Given the description of an element on the screen output the (x, y) to click on. 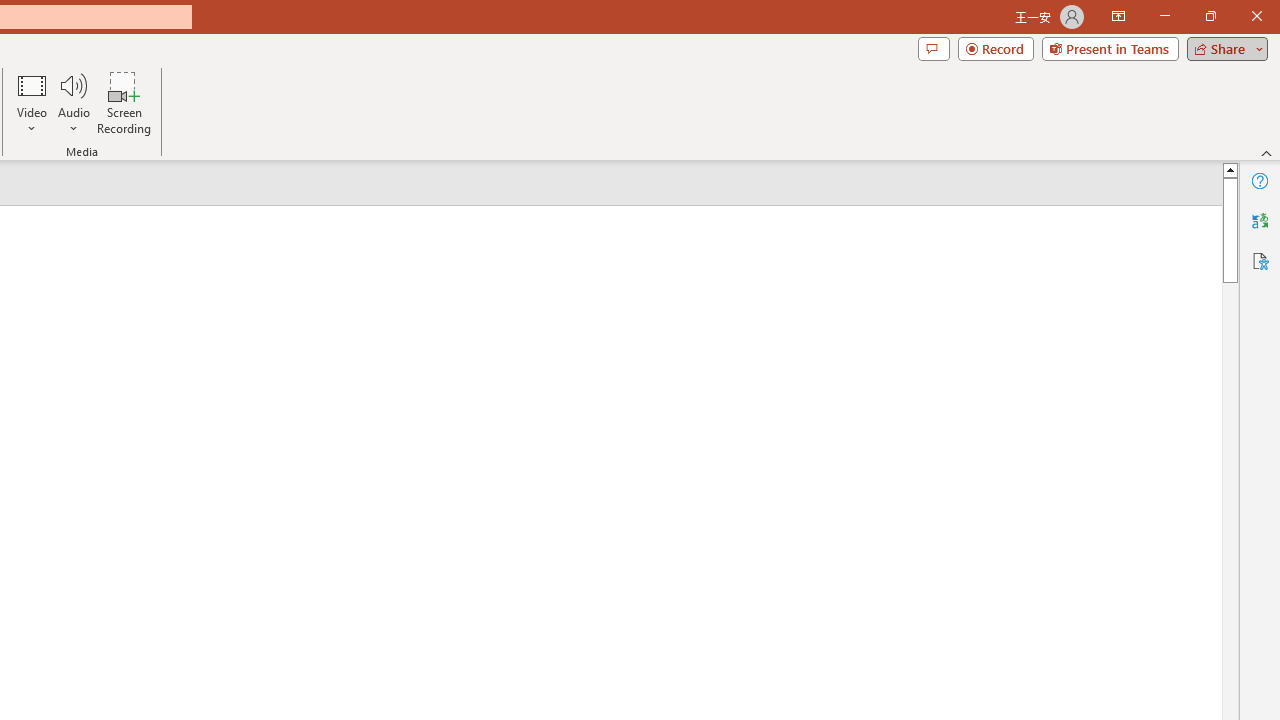
Video (31, 102)
Audio (73, 102)
